Given the description of an element on the screen output the (x, y) to click on. 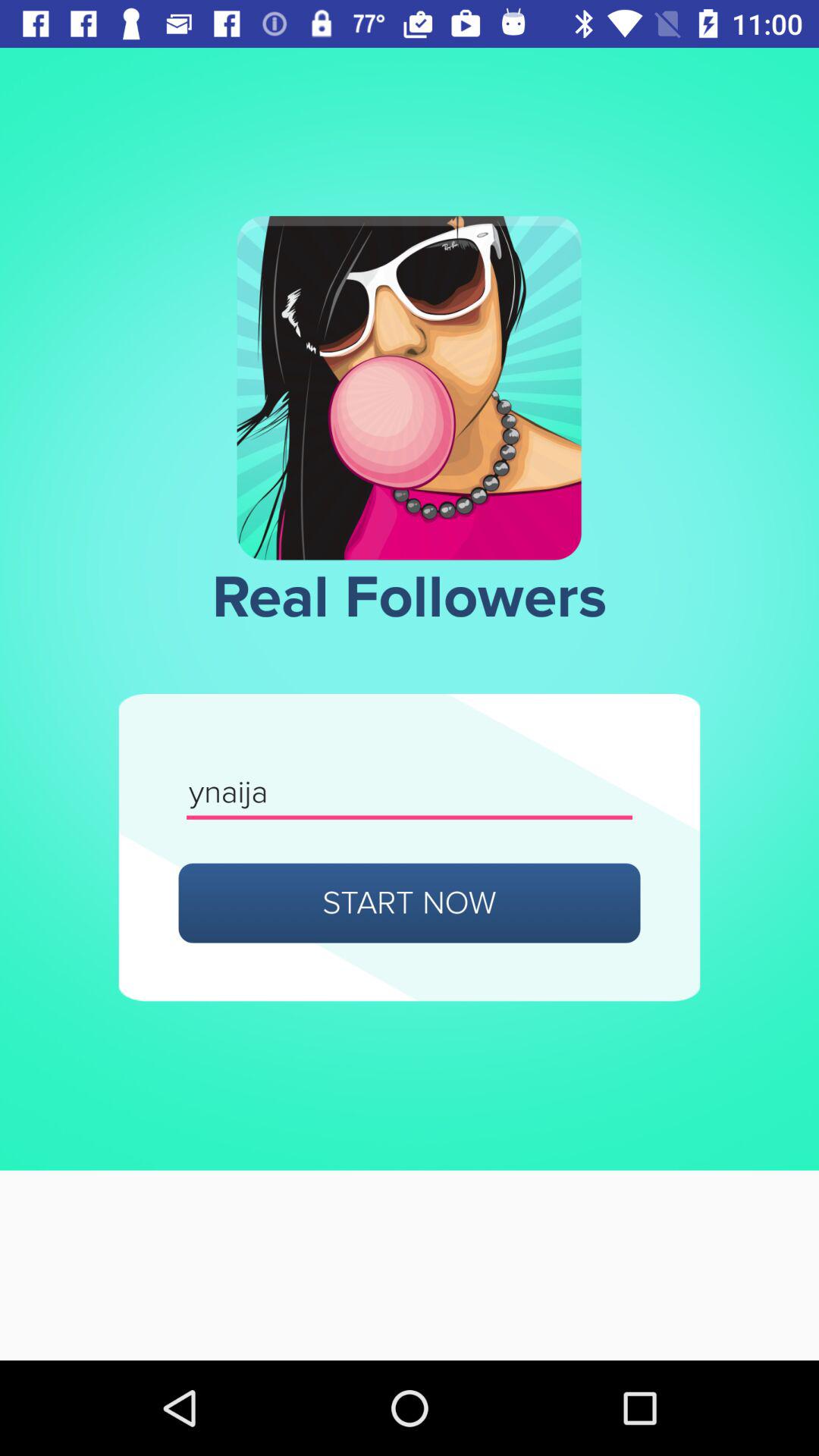
launch the ynaija icon (409, 793)
